Given the description of an element on the screen output the (x, y) to click on. 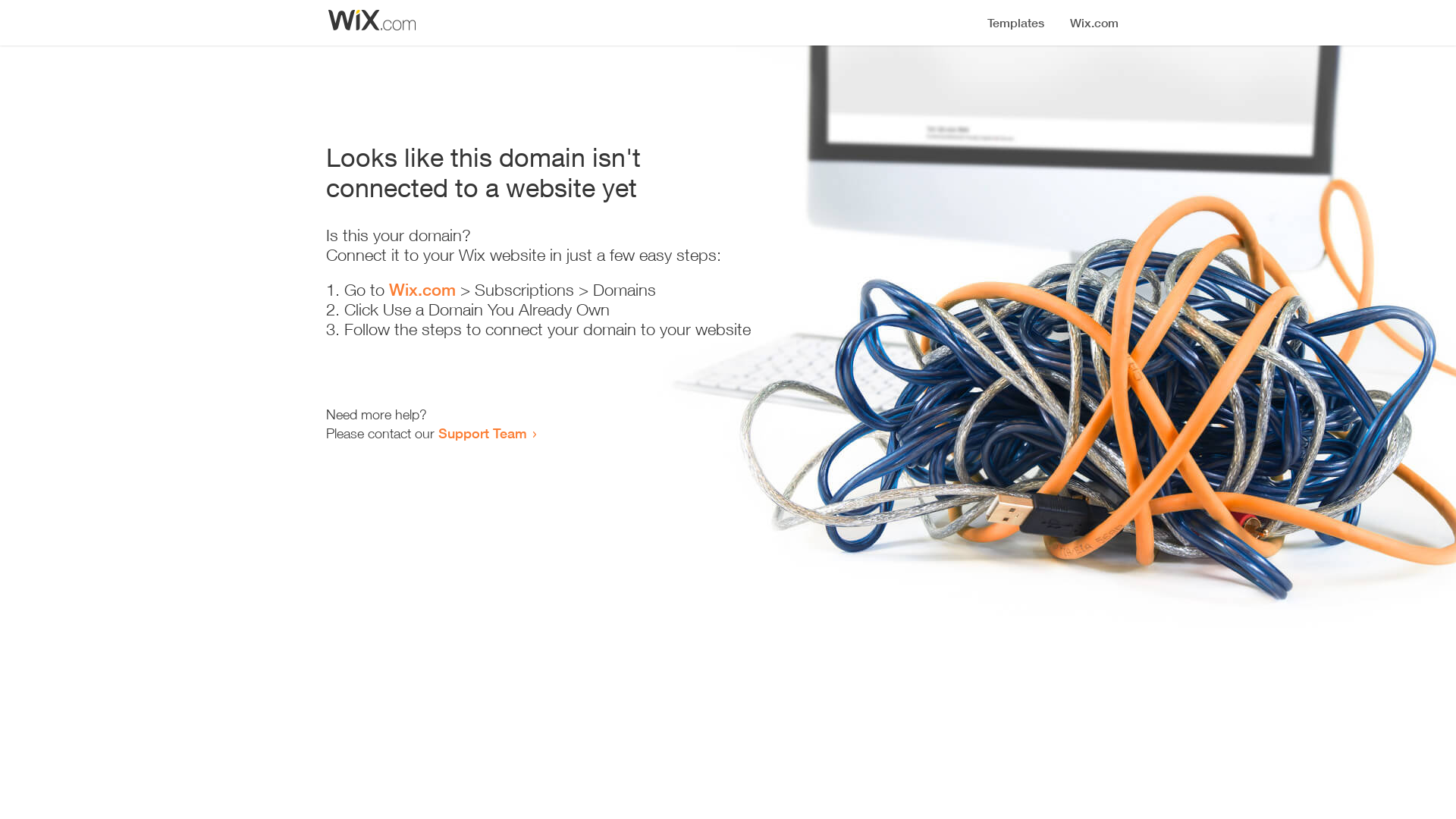
Support Team Element type: text (482, 432)
Wix.com Element type: text (422, 289)
